Given the description of an element on the screen output the (x, y) to click on. 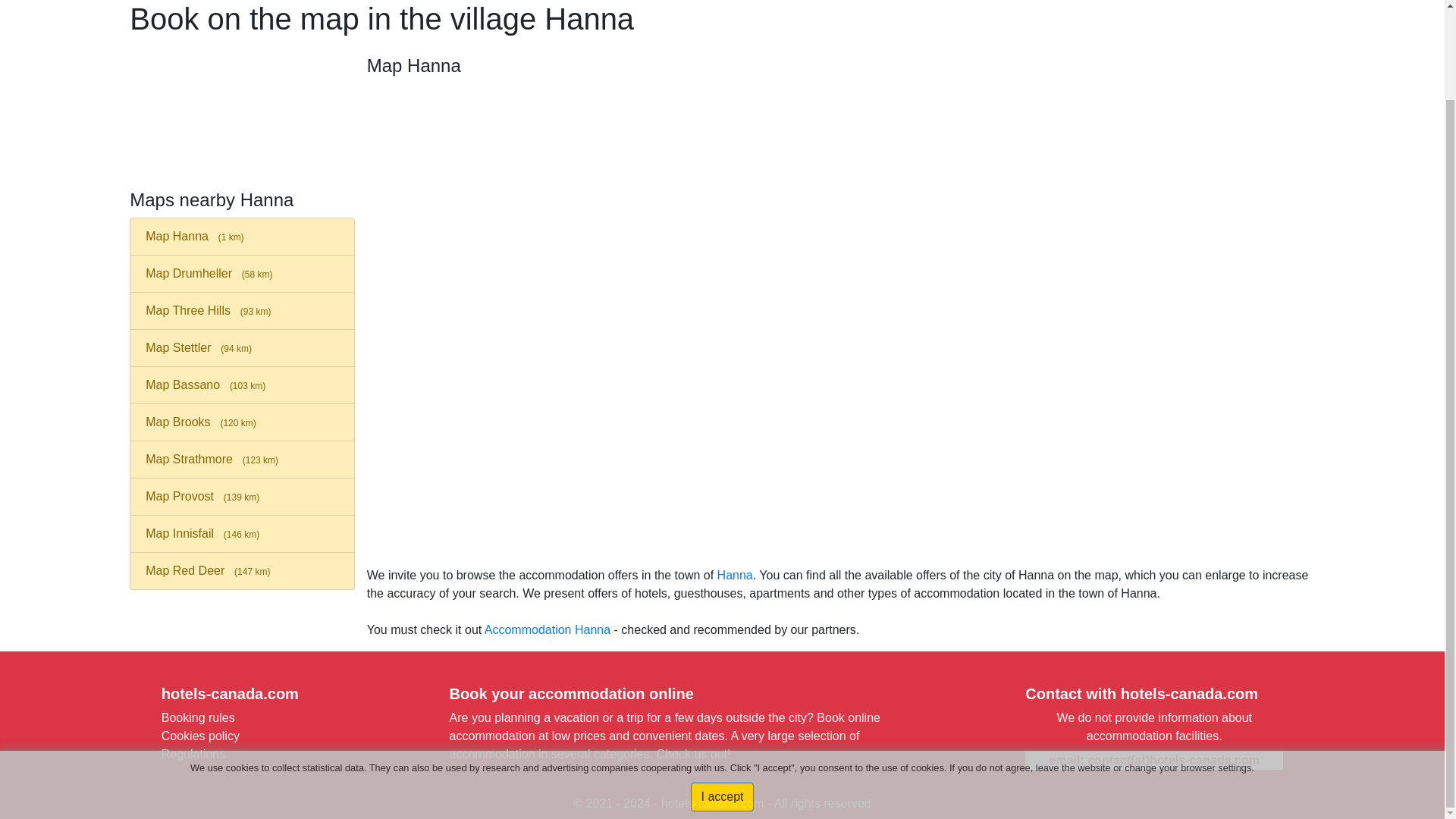
Regulations (193, 753)
I accept (721, 694)
Map Innisfail (242, 533)
Hanna (734, 574)
Map Three Hills (242, 310)
Map Provost (242, 496)
Map Drumheller (242, 273)
Map Strathmore (242, 459)
Map Stettler (242, 347)
Cookies policy (200, 735)
Map Hanna (242, 236)
Nocleg Hanna (547, 629)
Booking rules (197, 717)
Map Red Deer (242, 570)
Accommodation Hanna (547, 629)
